Given the description of an element on the screen output the (x, y) to click on. 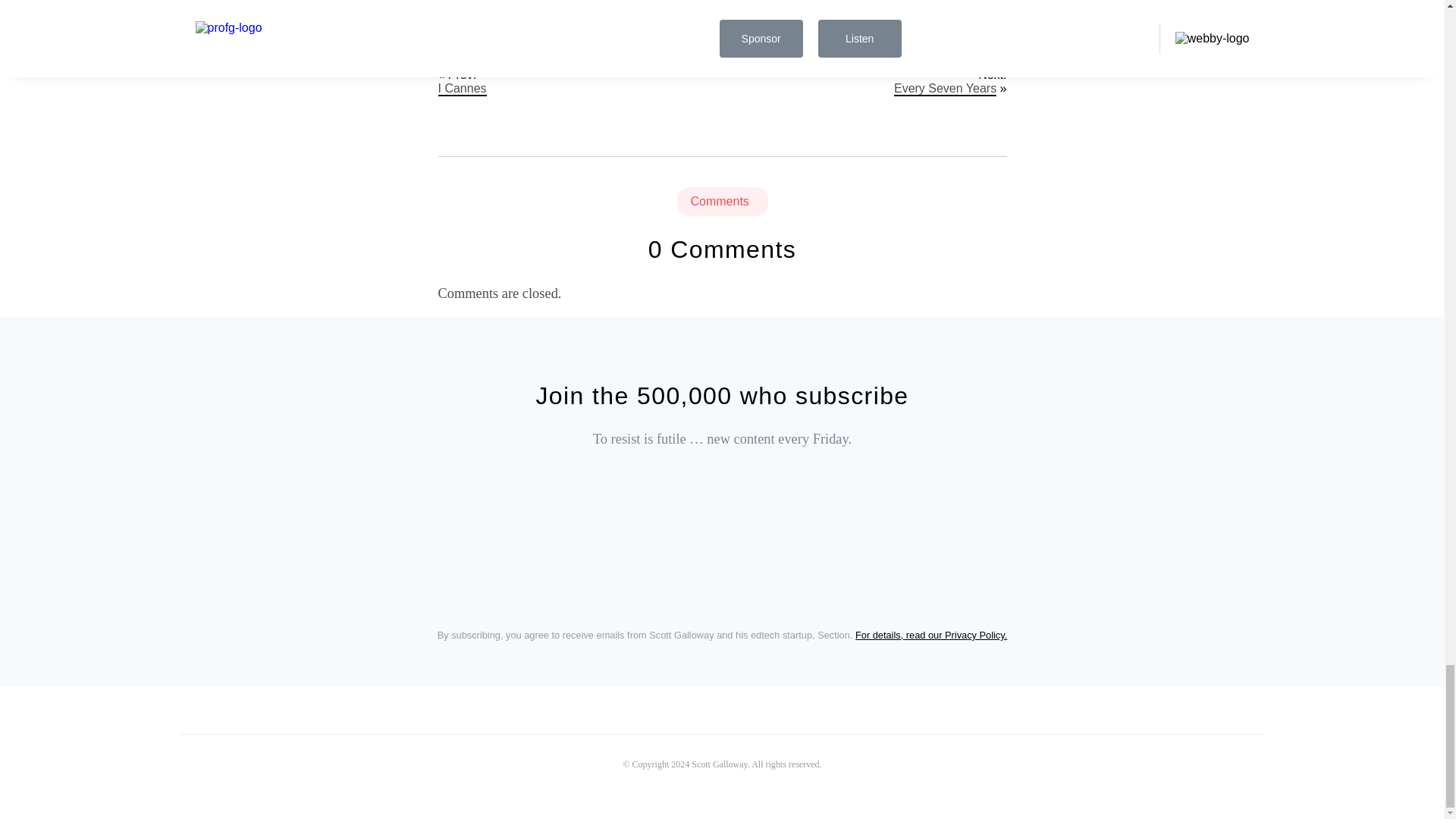
Every Seven Years (944, 88)
I Cannes (462, 88)
